Given the description of an element on the screen output the (x, y) to click on. 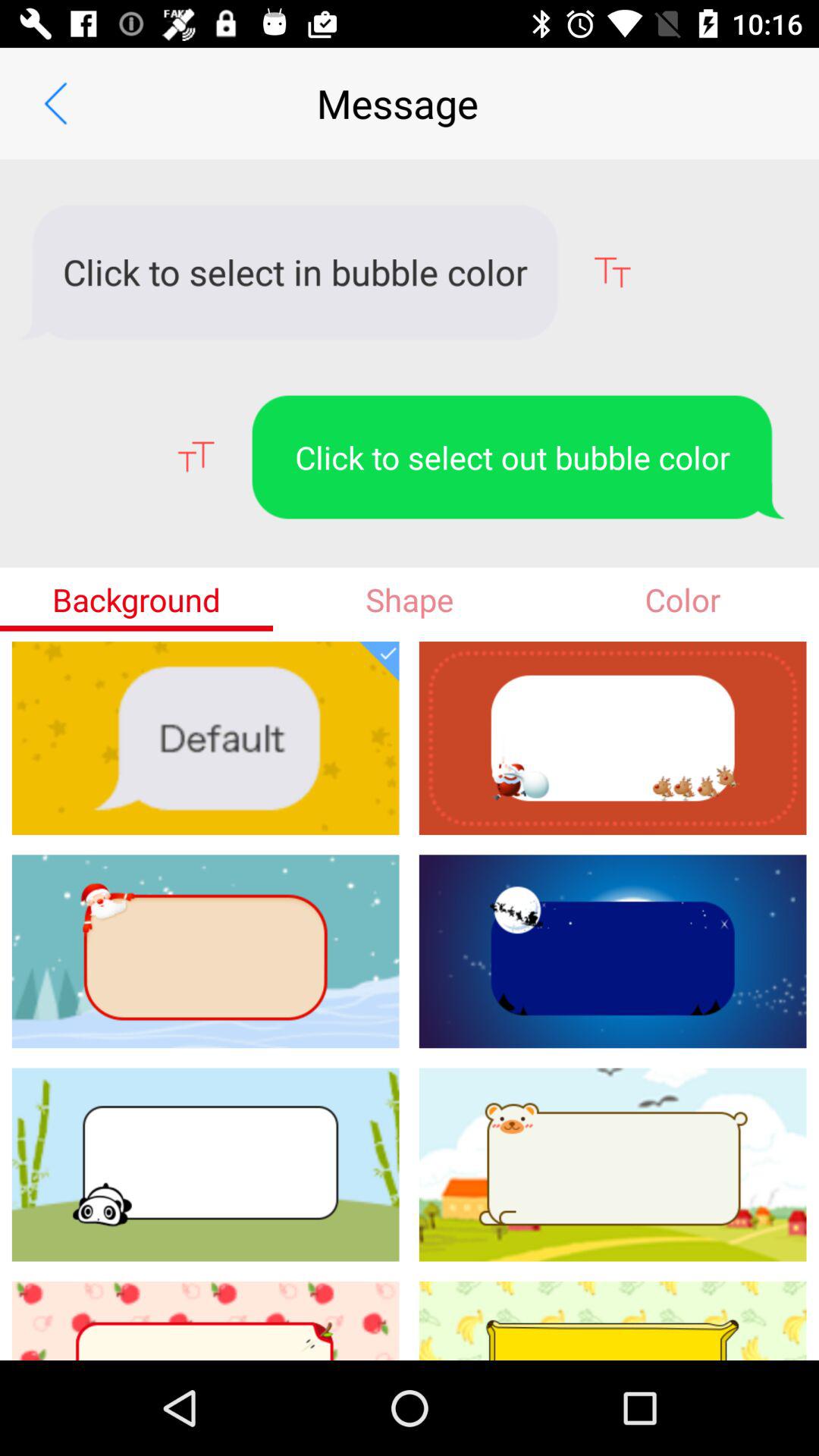
select the icon next to the shape (136, 599)
